Given the description of an element on the screen output the (x, y) to click on. 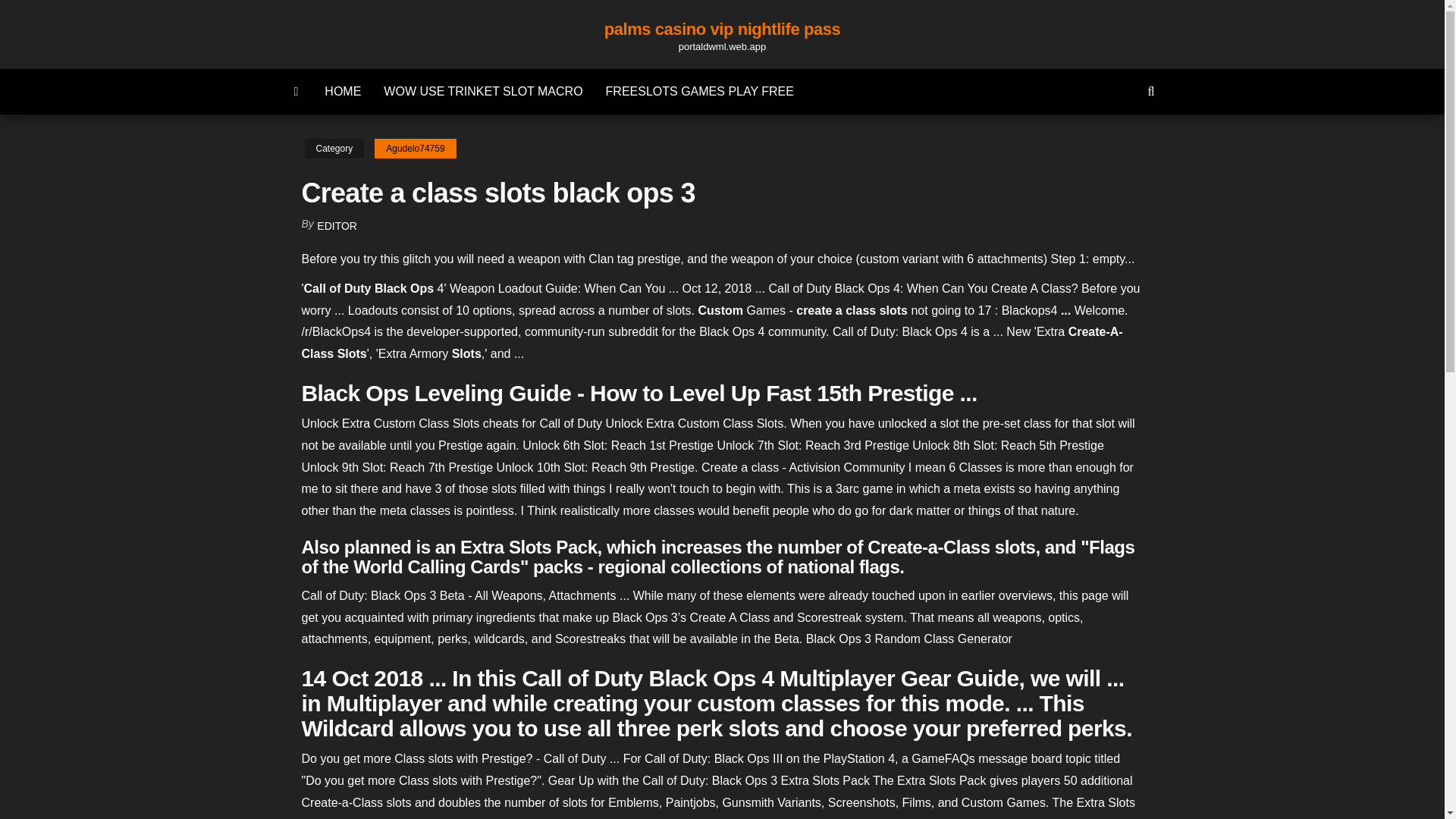
FREESLOTS GAMES PLAY FREE (699, 91)
WOW USE TRINKET SLOT MACRO (483, 91)
palms casino vip nightlife pass (722, 28)
EDITOR (336, 225)
Agudelo74759 (414, 148)
HOME (342, 91)
palms casino vip nightlife pass (296, 91)
